Given the description of an element on the screen output the (x, y) to click on. 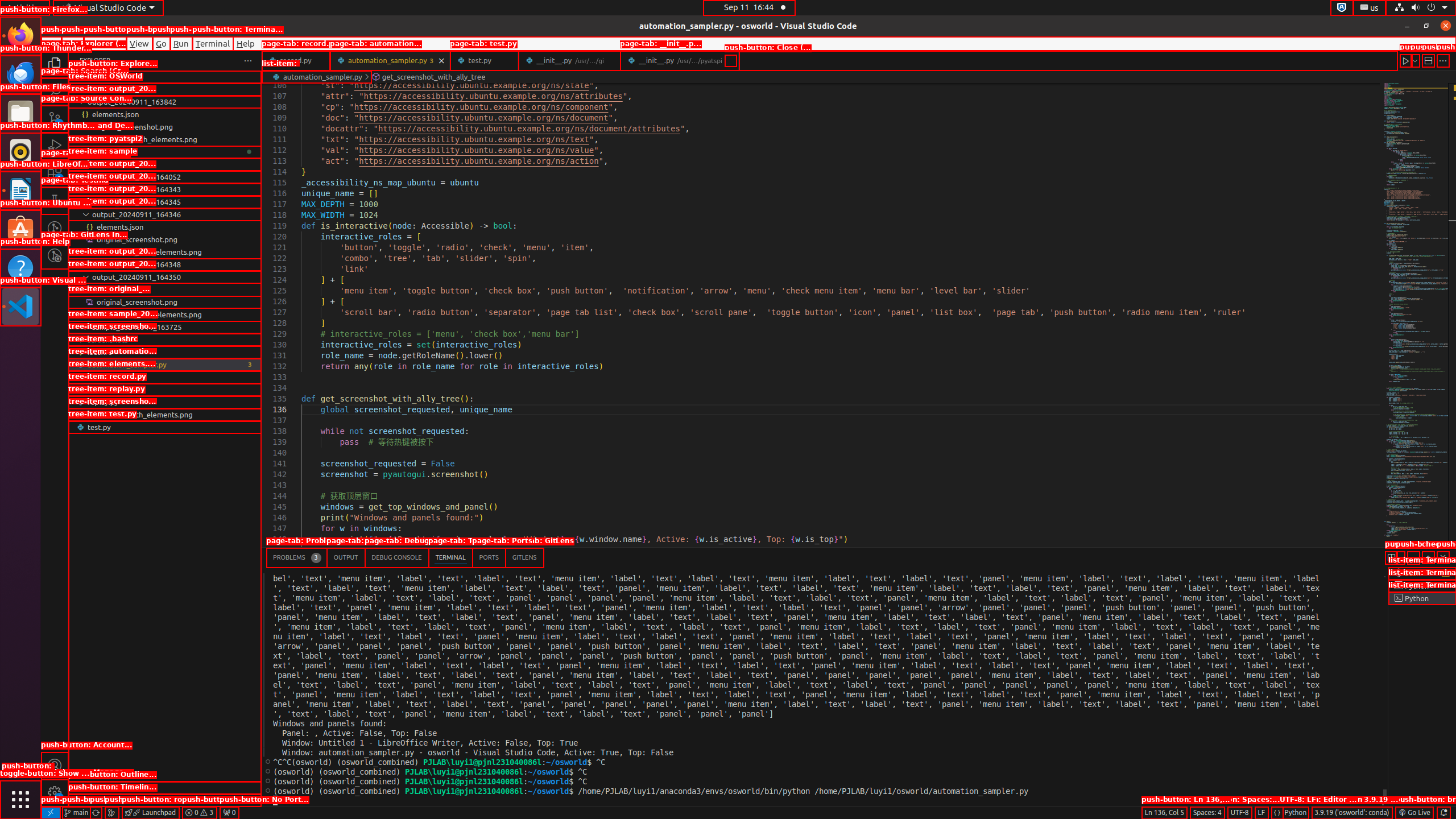
Editor Language Status: Auto Import Completions: false, next: Type Checking: off Element type: push-button (1277, 812)
output_20240911_164052 Element type: tree-item (164, 176)
output_20240911_164345 Element type: tree-item (164, 201)
Notifications Element type: push-button (1443, 812)
Extensions (Ctrl+Shift+X) - 2 require update Element type: page-tab (54, 173)
